Given the description of an element on the screen output the (x, y) to click on. 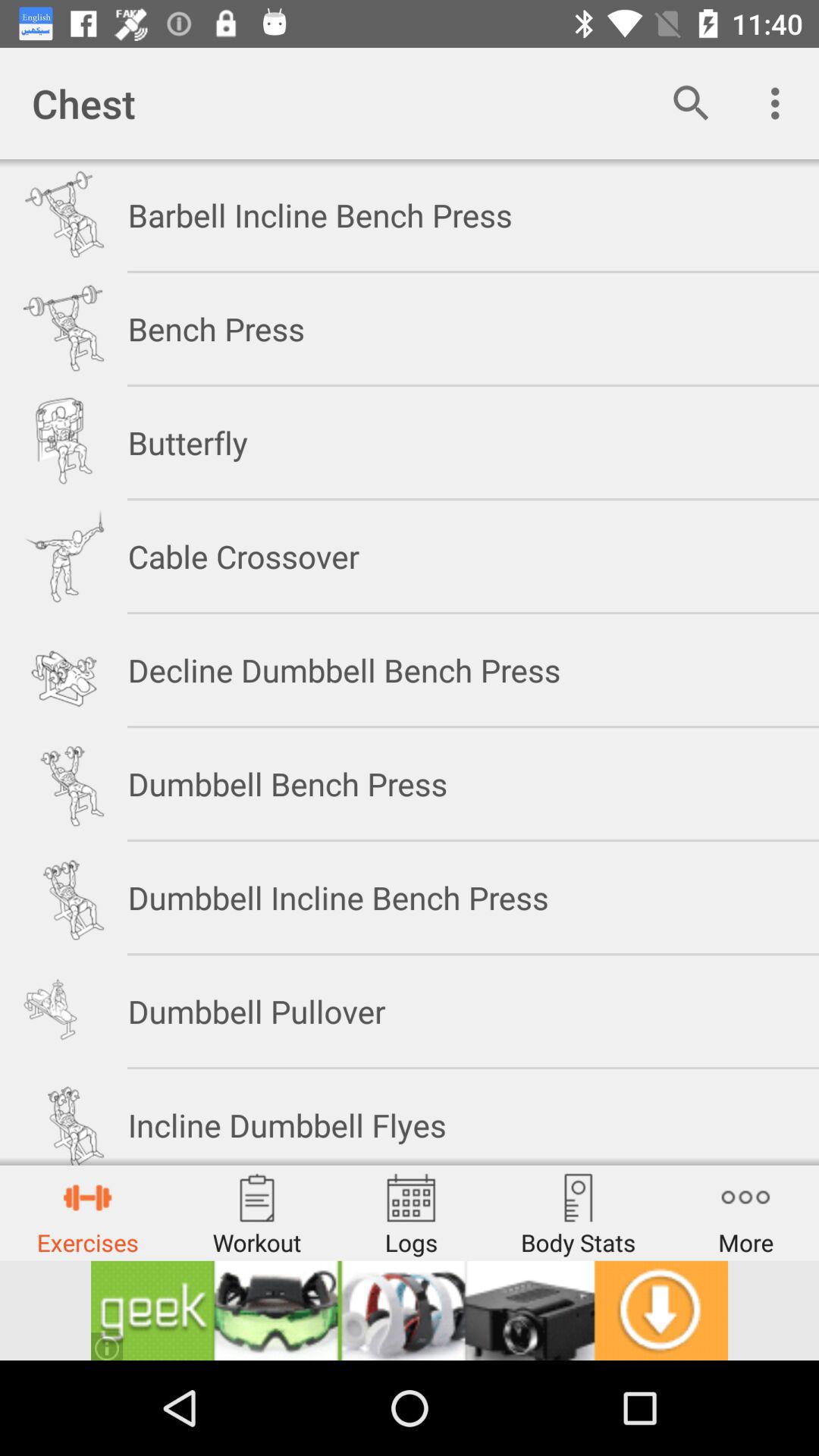
advertisent page (409, 1310)
